Given the description of an element on the screen output the (x, y) to click on. 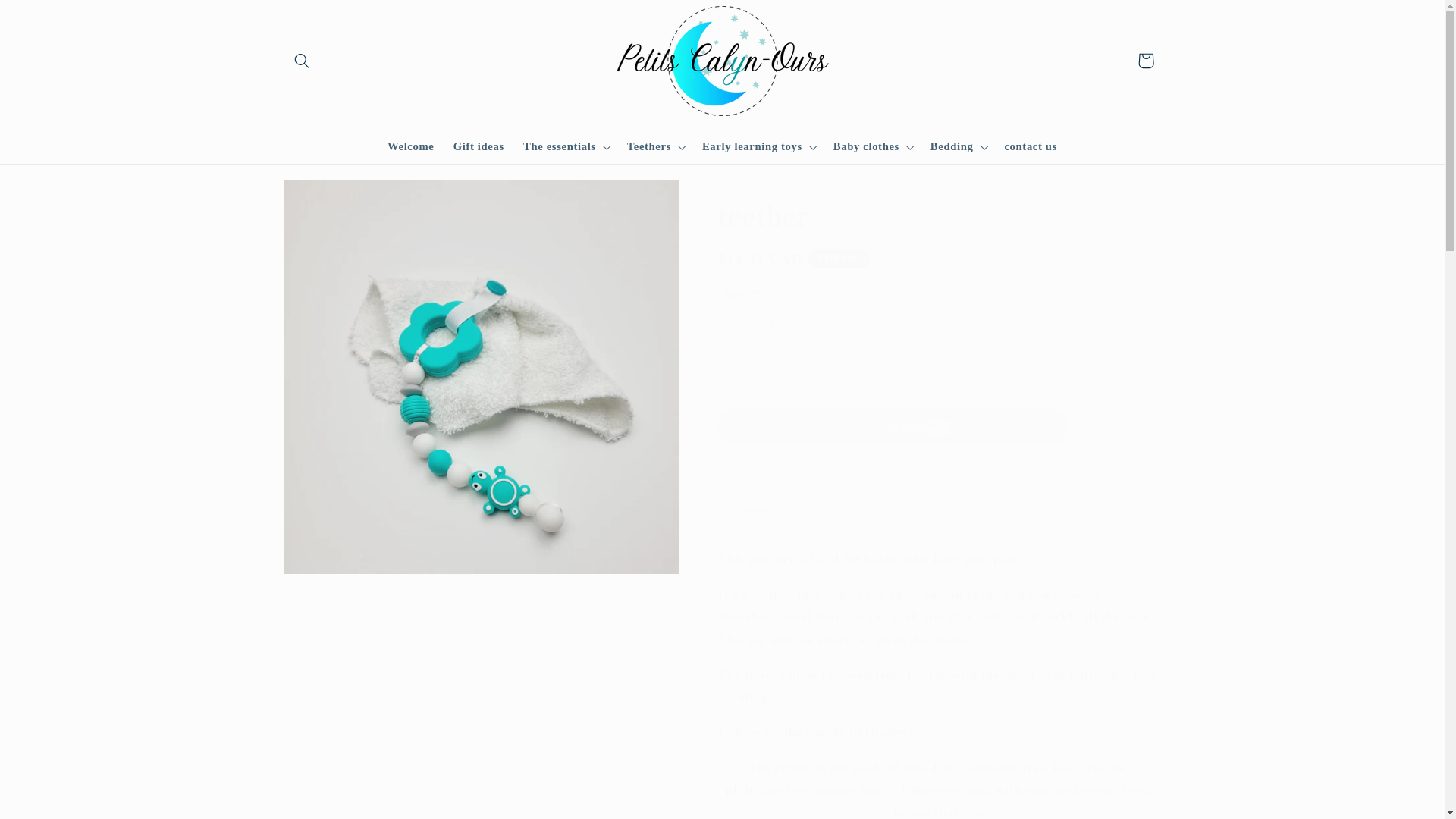
Skip to content (48, 18)
1 (771, 324)
Gift ideas (478, 146)
Welcome (410, 146)
